Given the description of an element on the screen output the (x, y) to click on. 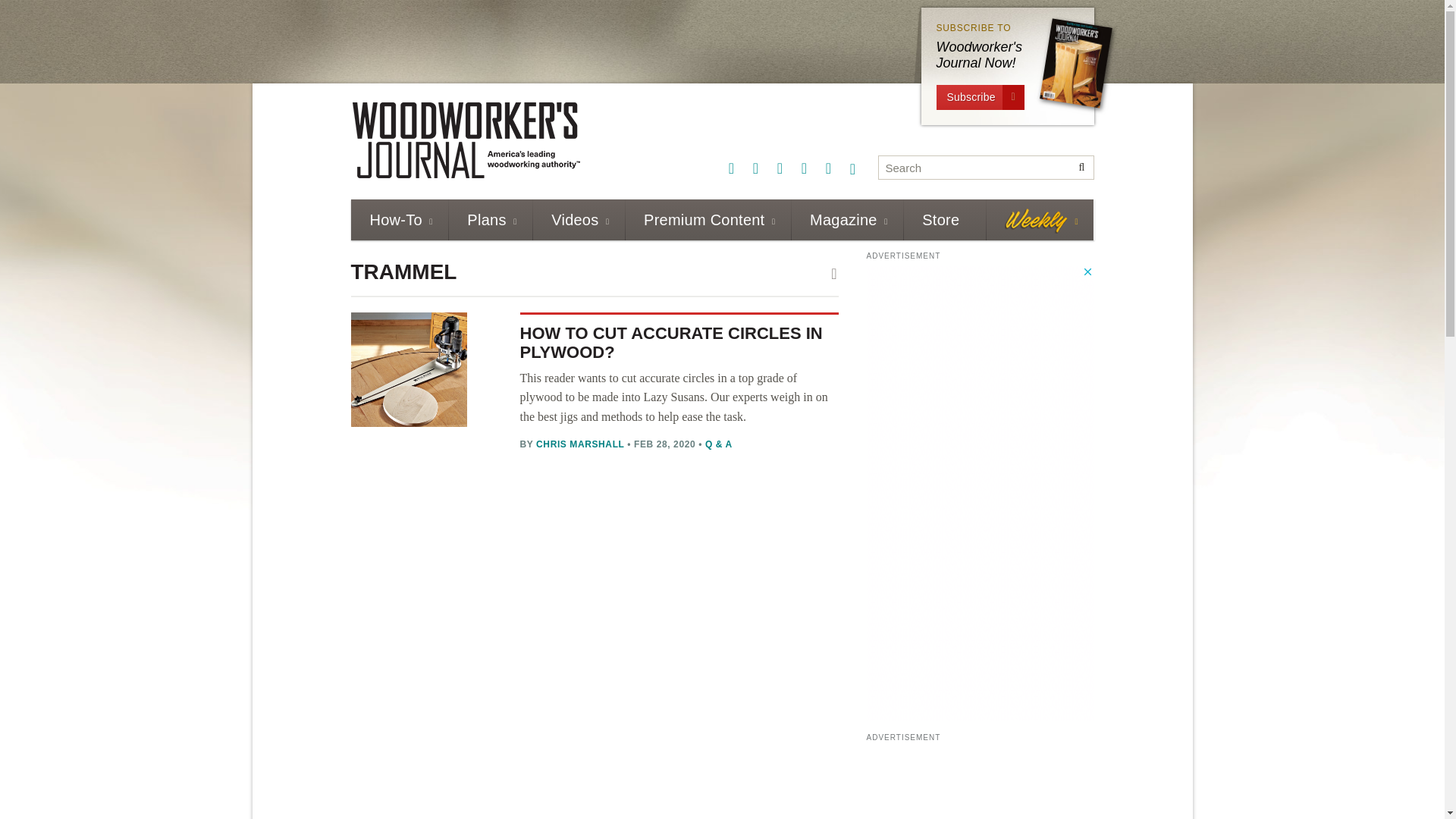
Premium Content (707, 219)
Videos (578, 219)
3rd party ad content (626, 37)
Plans (490, 219)
Magazine (846, 219)
How-To (399, 219)
3rd party ad content (979, 782)
